Given the description of an element on the screen output the (x, y) to click on. 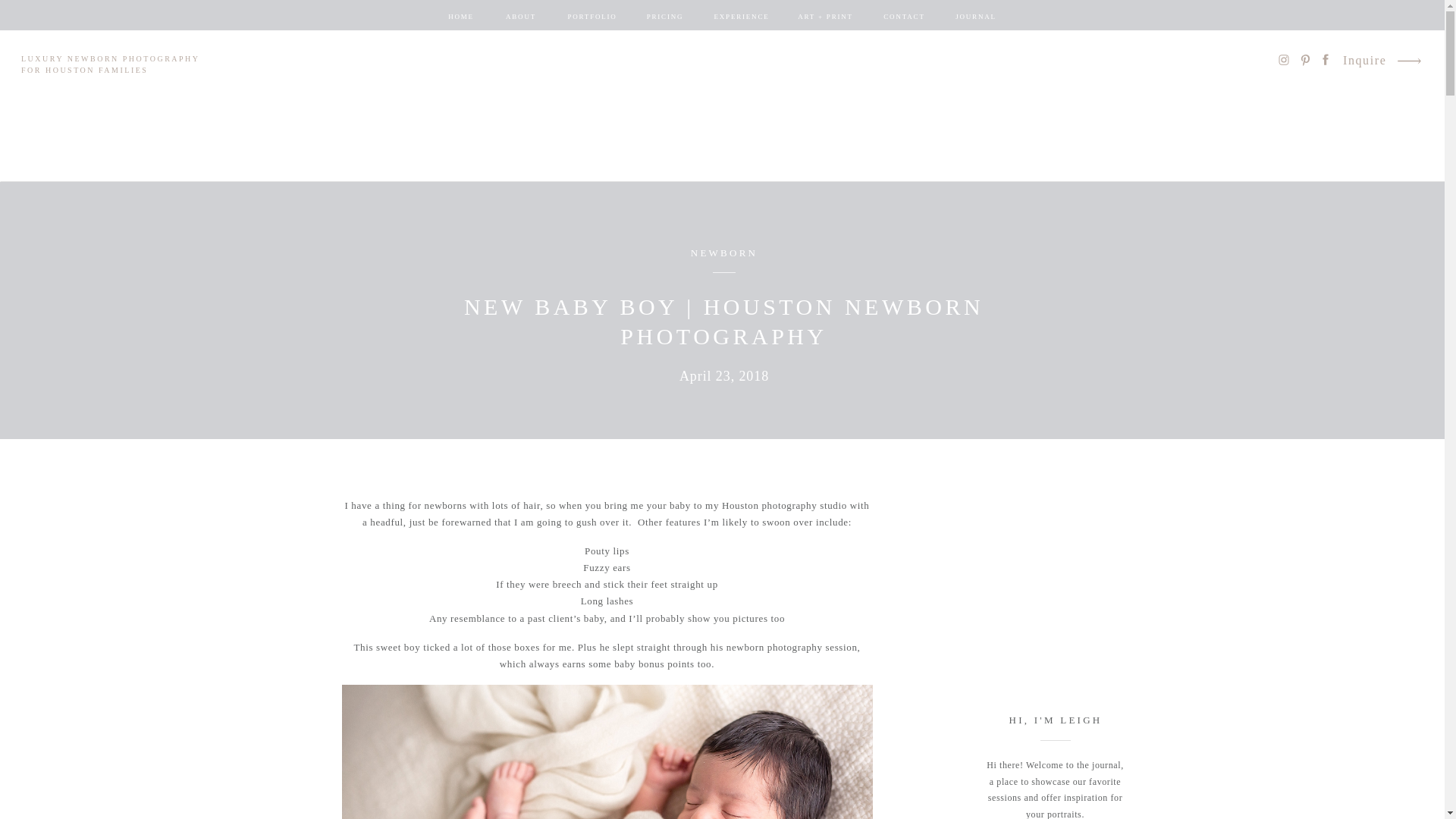
PORTFOLIO (591, 17)
HOME (461, 17)
ABOUT (520, 17)
arrow (1408, 60)
PRICING (665, 17)
Inquire  (1364, 61)
NEWBORN (723, 252)
arrow (1408, 60)
JOURNAL (975, 17)
EXPERIENCE (741, 17)
CONTACT (903, 17)
